Given the description of an element on the screen output the (x, y) to click on. 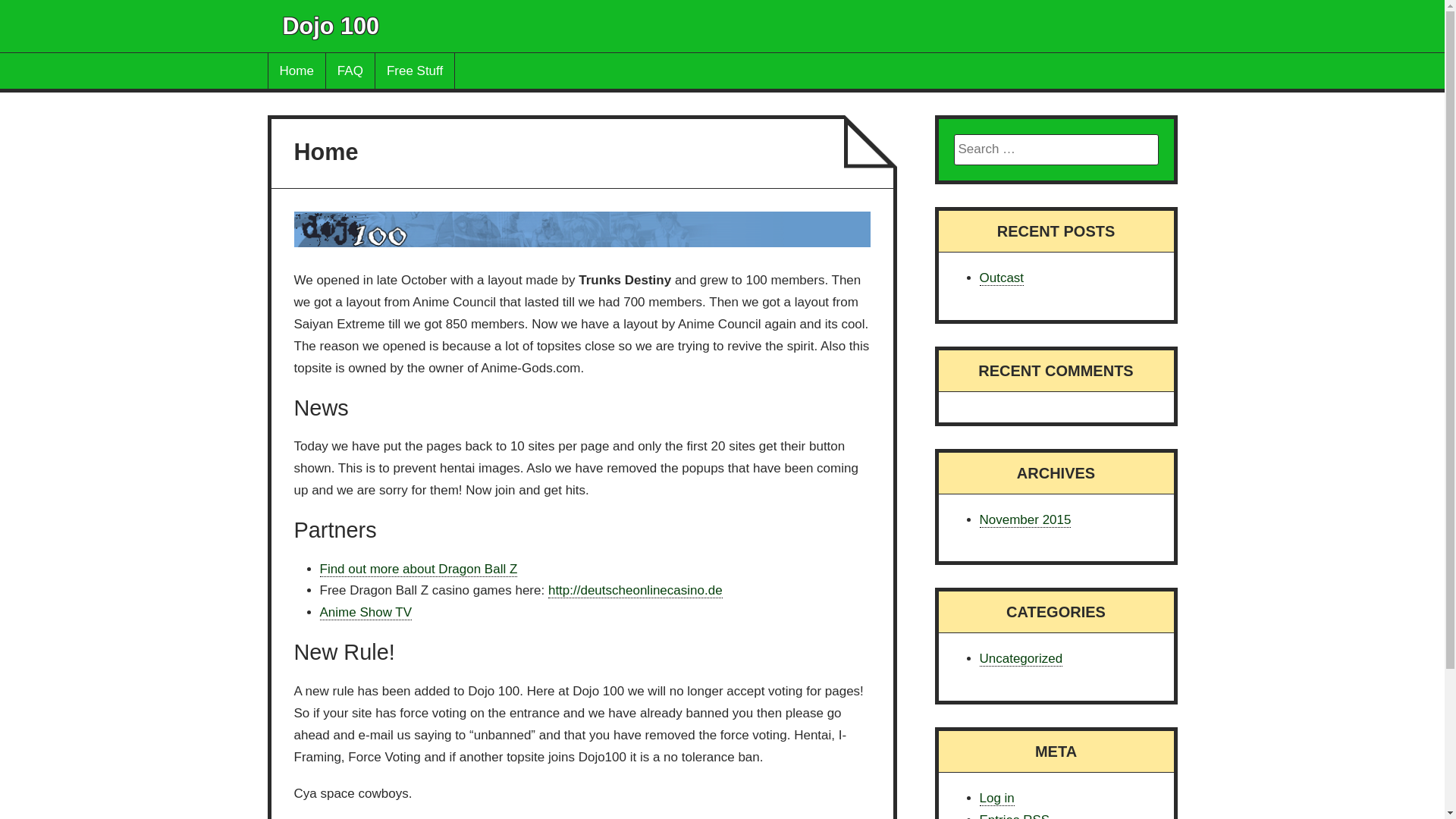
Find out more about Dragon Ball Z (419, 569)
FAQ (350, 70)
Home (296, 70)
Free Stuff (414, 70)
Uncategorized (1020, 658)
Log in (996, 798)
Search (53, 19)
Entries RSS (1014, 816)
Really Simple Syndication (1036, 816)
Outcast (1002, 278)
Home (326, 151)
Anime Show TV (366, 612)
Search for: (1055, 149)
November 2015 (1025, 519)
Dojo 100 (330, 25)
